Given the description of an element on the screen output the (x, y) to click on. 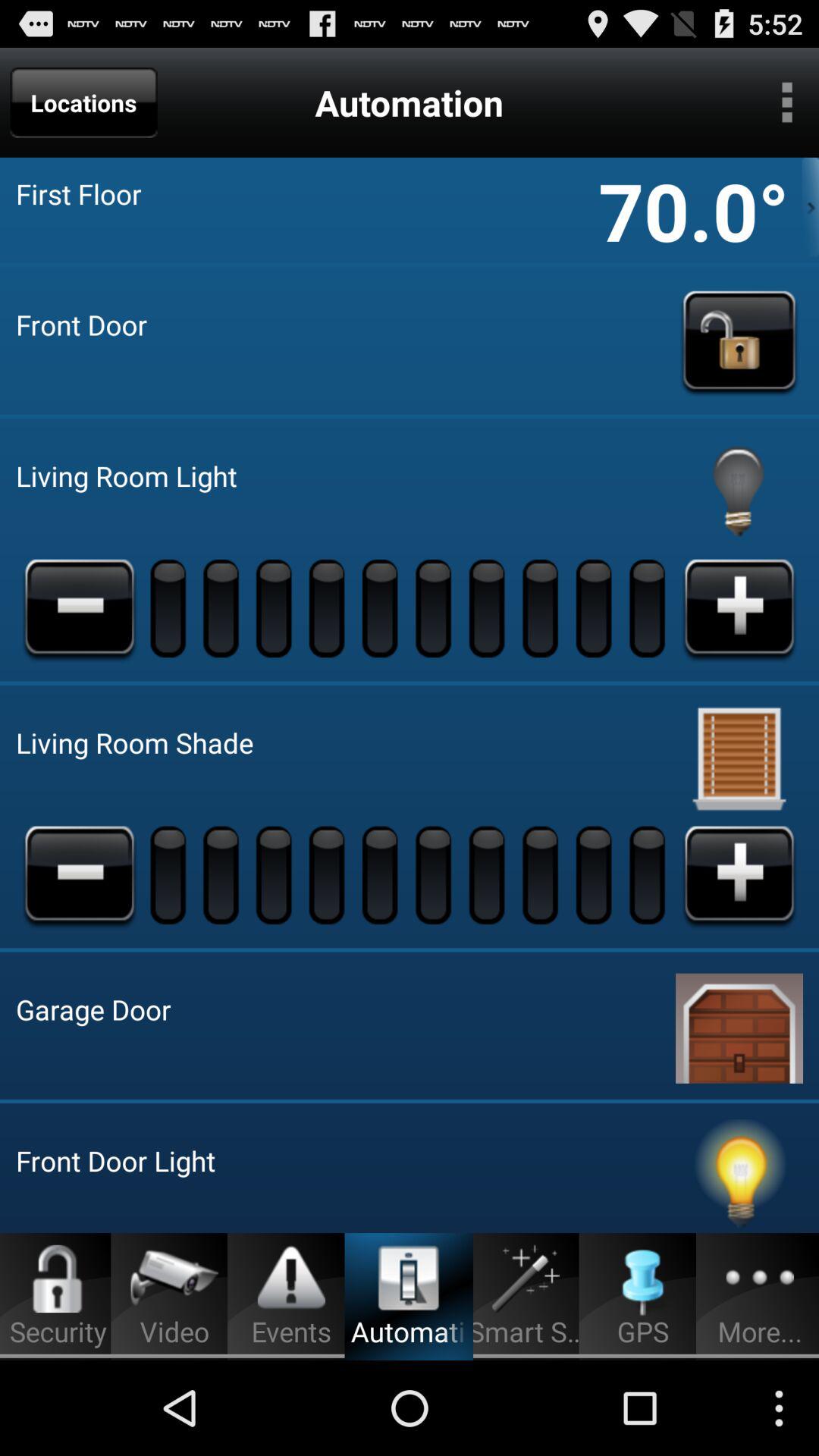
lower shades (79, 874)
